Given the description of an element on the screen output the (x, y) to click on. 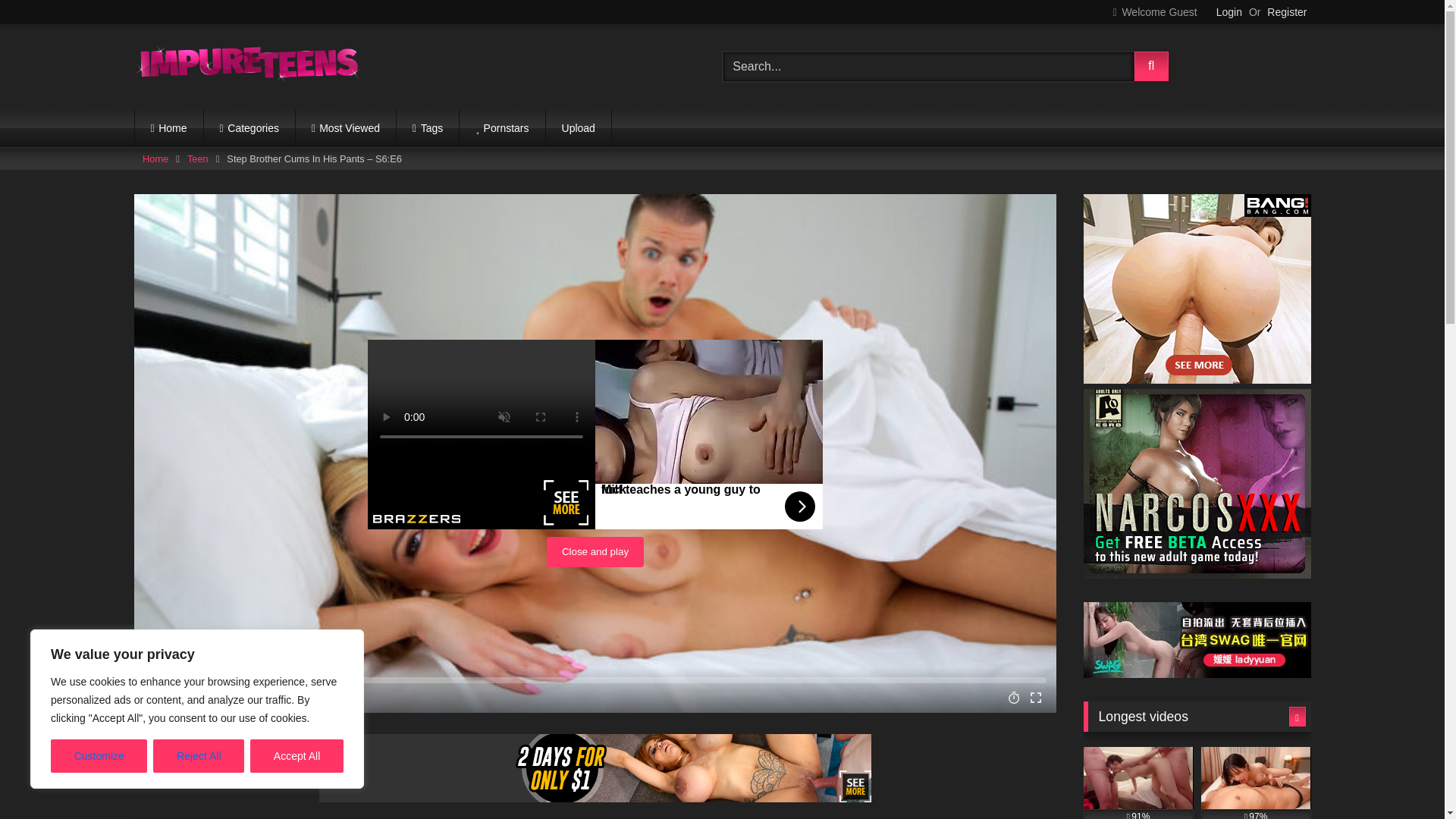
Tags (427, 127)
Teen (197, 158)
Reject All (198, 756)
Most Viewed (345, 127)
Register (1286, 12)
Categories (249, 127)
Customize (98, 756)
Home (169, 127)
Upload (578, 127)
Pornstars (502, 127)
Accept All (296, 756)
Login (1228, 12)
Search... (928, 66)
Home (155, 158)
ImpureTeens (247, 66)
